Given the description of an element on the screen output the (x, y) to click on. 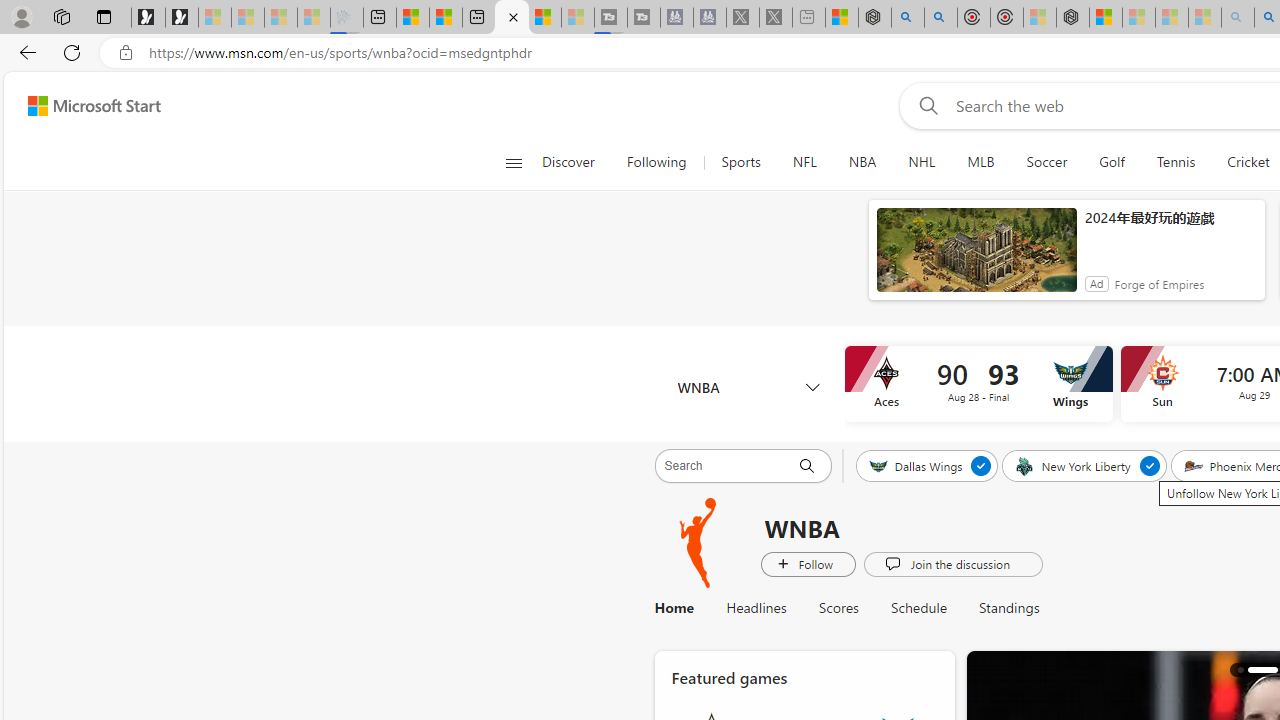
Aces 90 vs Wings 93Final Date Aug 28 (978, 383)
Ad (1096, 283)
Nordace - Summer Adventures 2024 (874, 17)
Standings (1000, 607)
WNBA (748, 386)
NHL (921, 162)
Wildlife - MSN (841, 17)
New tab - Sleeping (808, 17)
NBA (861, 162)
Soccer (1046, 162)
Scores (838, 607)
